Given the description of an element on the screen output the (x, y) to click on. 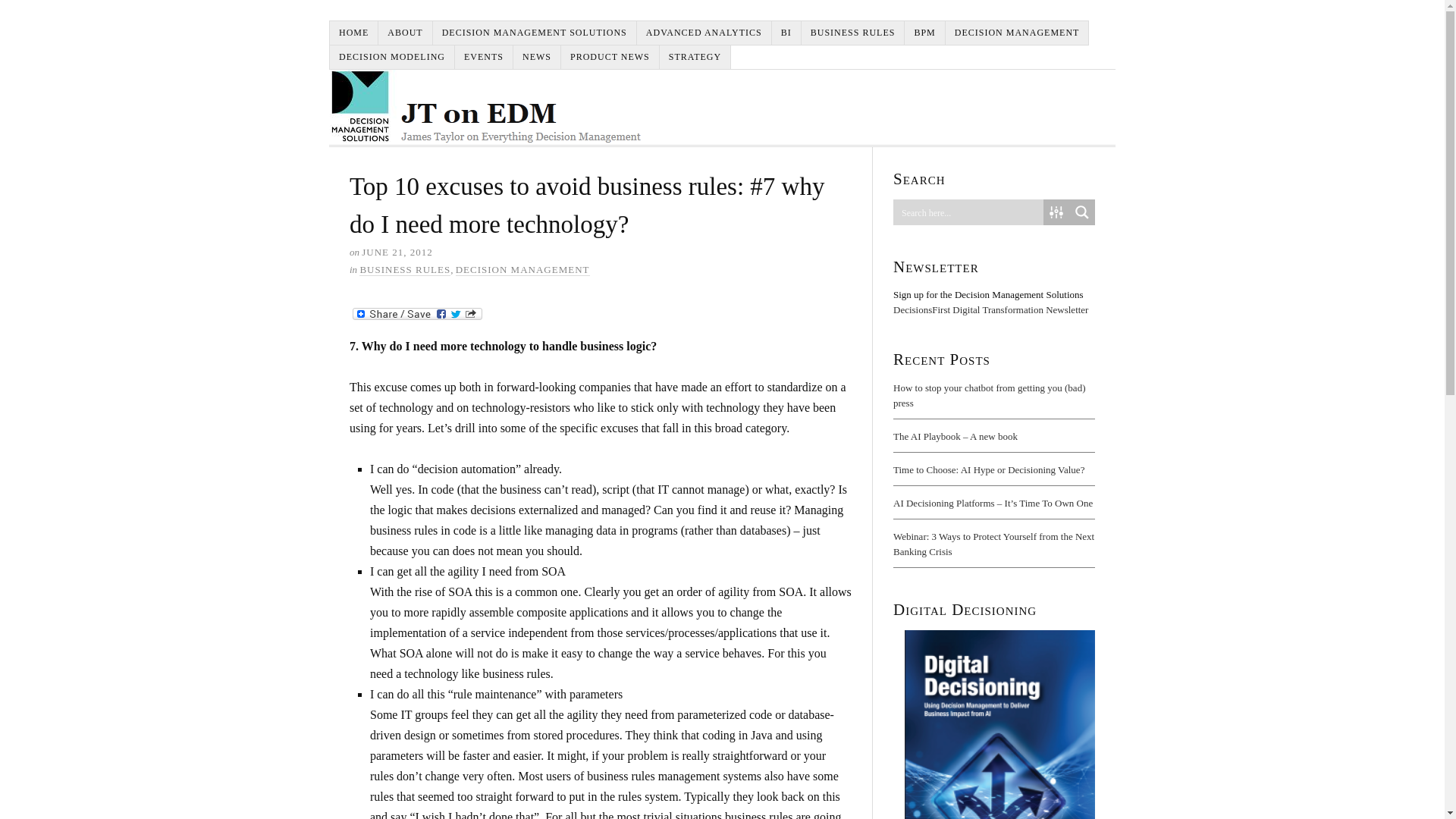
DECISION MODELING (392, 57)
BI (786, 32)
EVENTS (483, 57)
DECISION MANAGEMENT (1016, 32)
ADVANCED ANALYTICS (704, 32)
NEWS (536, 57)
HOME (354, 32)
BUSINESS RULES (853, 32)
2012-06-21 (396, 251)
PRODUCT NEWS (609, 57)
DECISION MANAGEMENT SOLUTIONS (534, 32)
DECISION MANAGEMENT (522, 269)
ABOUT (405, 32)
BPM (924, 32)
STRATEGY (694, 57)
